Given the description of an element on the screen output the (x, y) to click on. 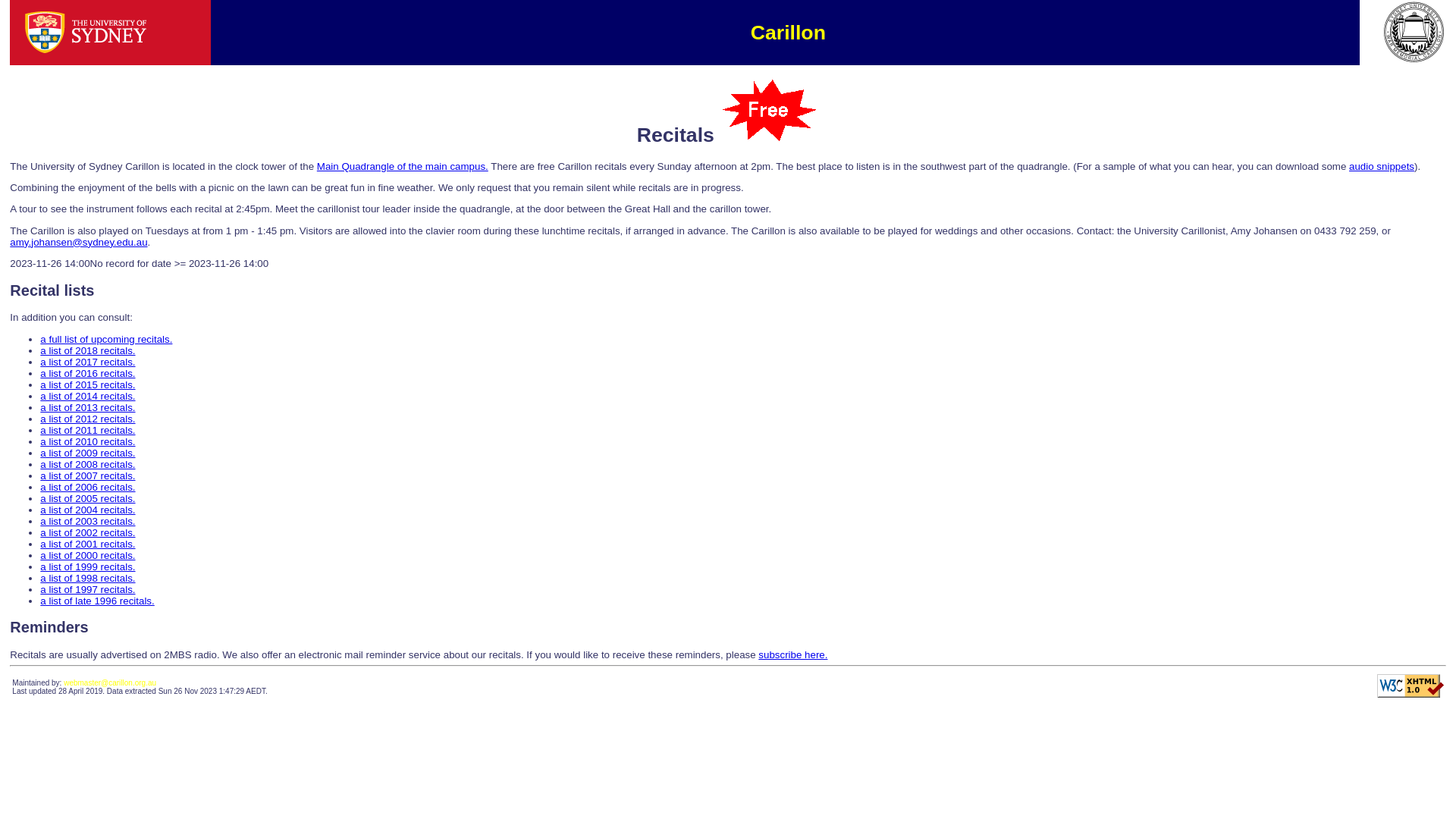
a list of 2012 recitals. Element type: text (87, 418)
a full list of upcoming recitals. Element type: text (106, 339)
a list of 2005 recitals. Element type: text (87, 498)
a list of 2016 recitals. Element type: text (87, 373)
a list of 2015 recitals. Element type: text (87, 384)
amy.johansen@sydney.edu.au Element type: text (78, 241)
a list of 2004 recitals. Element type: text (87, 509)
a list of 1999 recitals. Element type: text (87, 566)
a list of 2002 recitals. Element type: text (87, 532)
a list of late 1996 recitals. Element type: text (96, 600)
a list of 2006 recitals. Element type: text (87, 486)
a list of 2014 recitals. Element type: text (87, 395)
a list of 2003 recitals. Element type: text (87, 521)
a list of 2018 recitals. Element type: text (87, 350)
a list of 2011 recitals. Element type: text (87, 430)
a list of 2017 recitals. Element type: text (87, 361)
Main Quadrangle of the main campus. Element type: text (402, 166)
a list of 2007 recitals. Element type: text (87, 475)
a list of 1997 recitals. Element type: text (87, 589)
audio snippets Element type: text (1381, 166)
a list of 2013 recitals. Element type: text (87, 407)
a list of 2010 recitals. Element type: text (87, 441)
a list of 2001 recitals. Element type: text (87, 543)
webmaster@carillon.org.au Element type: text (109, 682)
a list of 2009 recitals. Element type: text (87, 452)
a list of 1998 recitals. Element type: text (87, 577)
subscribe here. Element type: text (792, 654)
Carillon Element type: text (790, 32)
a list of 2008 recitals. Element type: text (87, 464)
a list of 2000 recitals. Element type: text (87, 555)
